Given the description of an element on the screen output the (x, y) to click on. 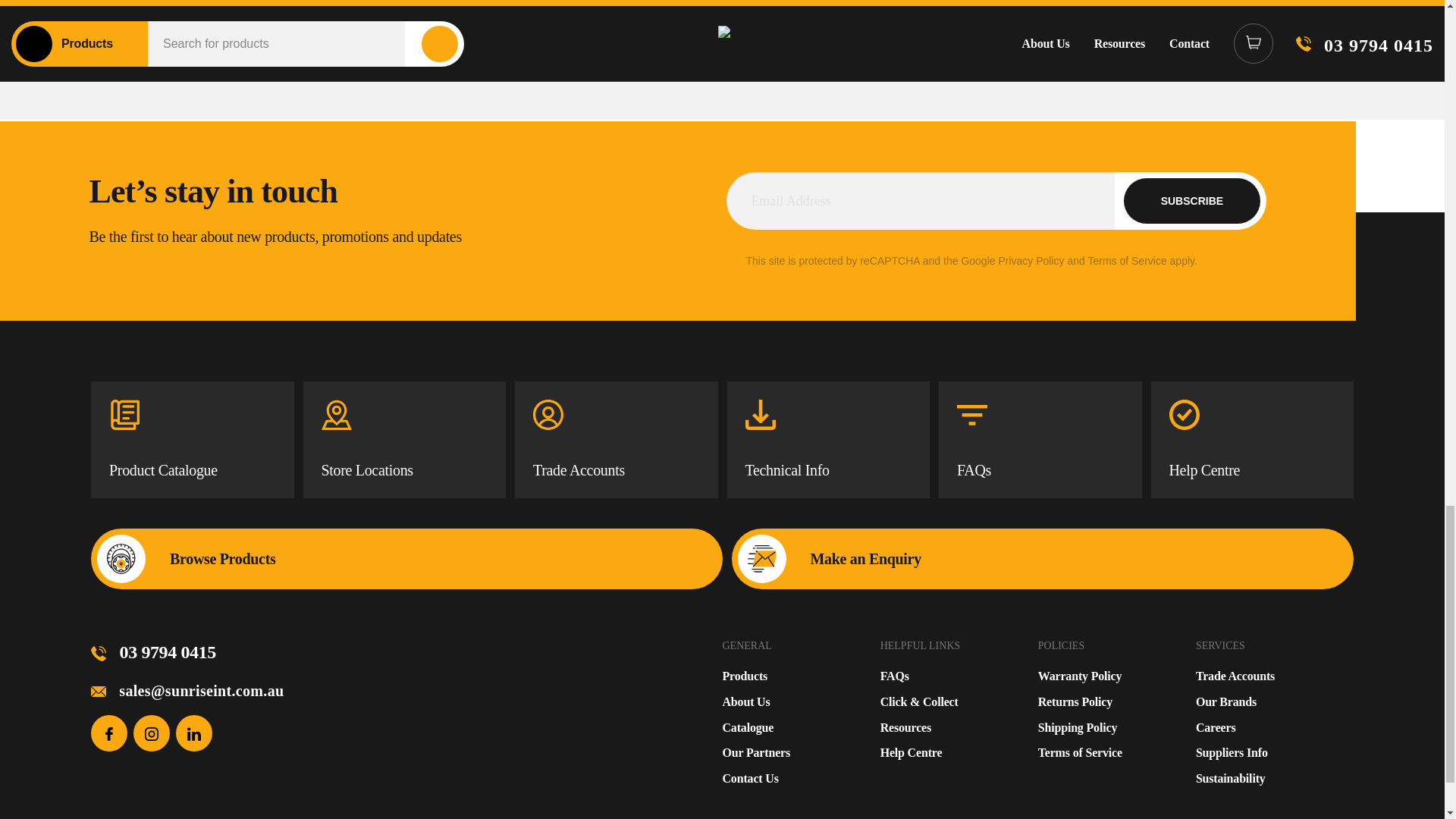
SUBSCRIBE (1192, 200)
Products (744, 675)
Make an Enquiry (1042, 558)
03 9794 0415 (152, 651)
Browse Products (406, 558)
FAQs (1040, 439)
Store Locations (404, 439)
Technical Info (828, 439)
About Us (746, 701)
Catalogue (747, 727)
